Given the description of an element on the screen output the (x, y) to click on. 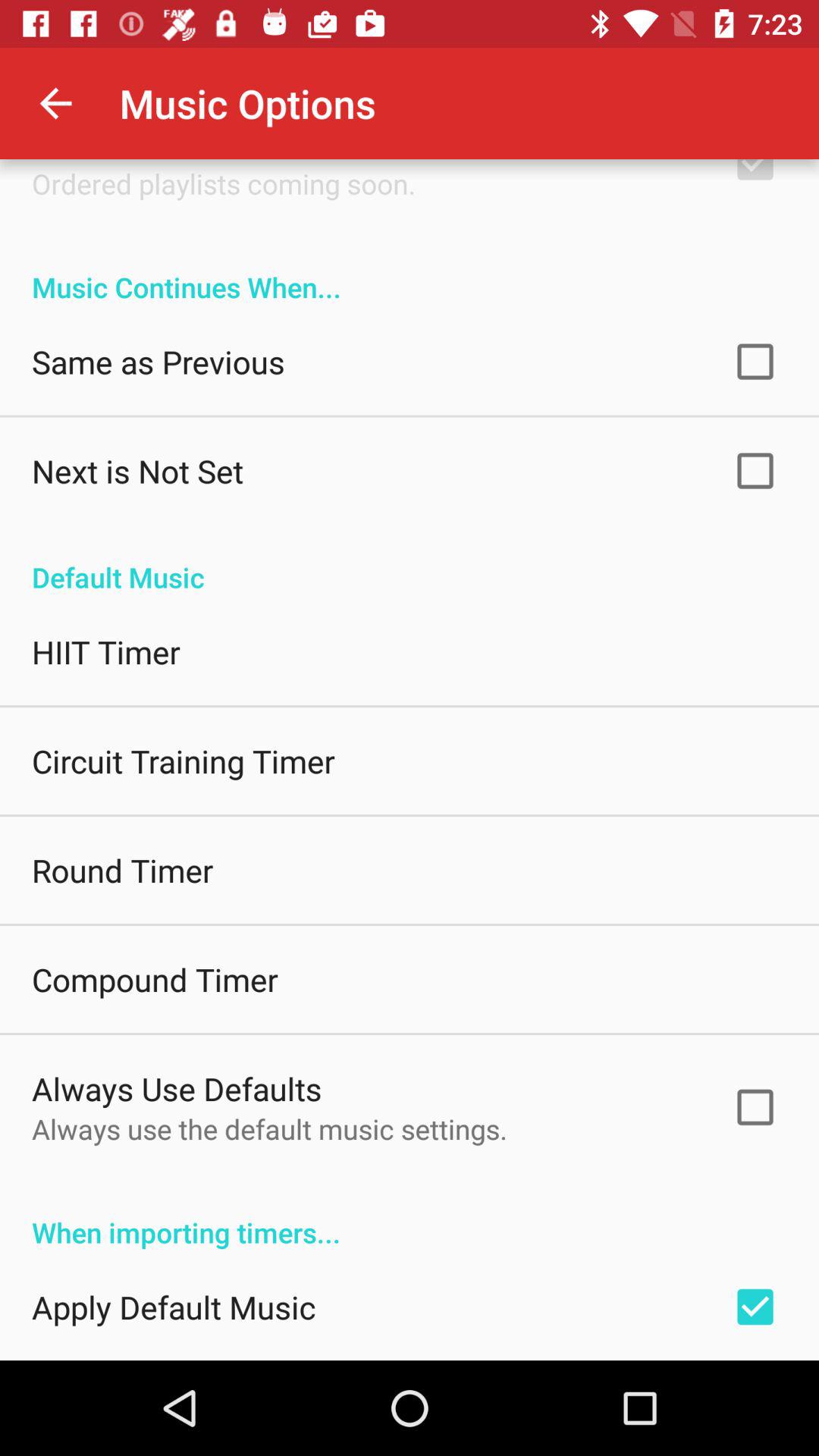
tap item next to the music options app (55, 103)
